Given the description of an element on the screen output the (x, y) to click on. 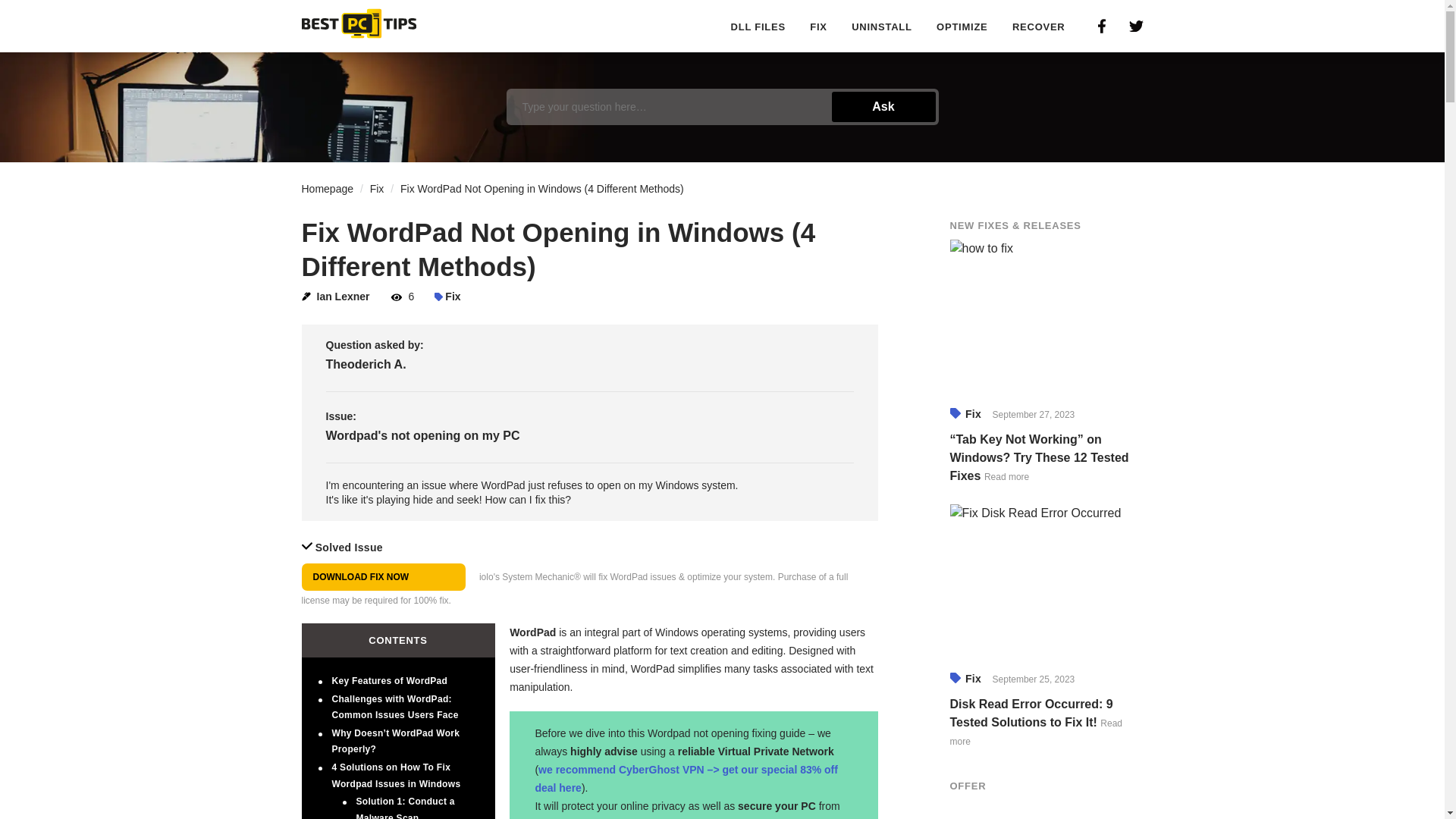
Fix (376, 188)
Key Features of WordPad (389, 680)
Ask (882, 106)
4 Solutions on How To Fix Wordpad Issues in Windows (396, 775)
DOWNLOAD FIX NOW (383, 576)
DLL FILES (758, 26)
FIX (818, 26)
RECOVER (1038, 26)
Ask (882, 106)
Solution 1: Conduct a Malware Scan (405, 807)
OPTIMIZE (961, 26)
Challenges with WordPad: Common Issues Users Face (394, 707)
Homepage (327, 188)
UNINSTALL (881, 26)
